Given the description of an element on the screen output the (x, y) to click on. 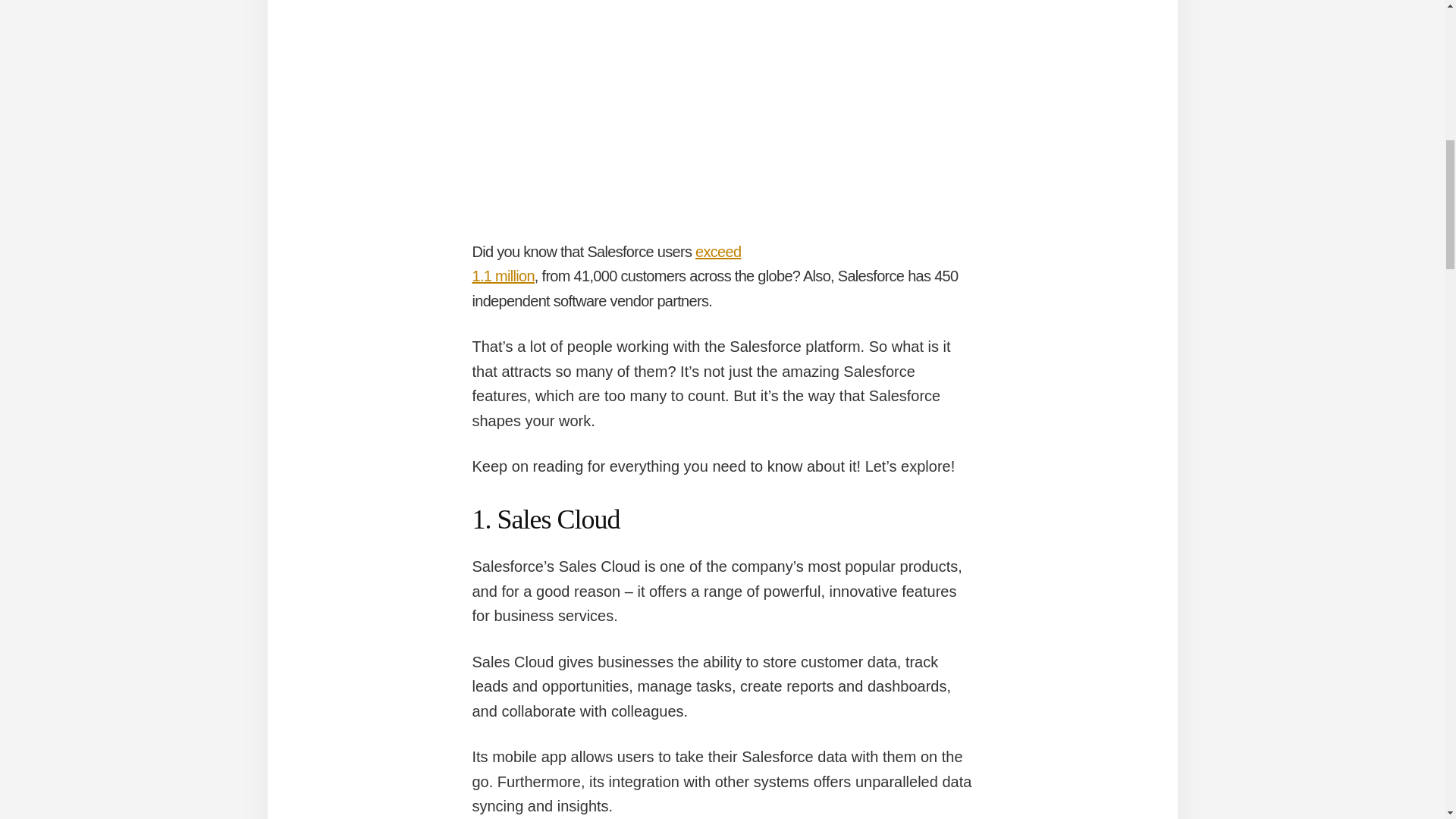
exceed 1.1 million (606, 264)
